Given the description of an element on the screen output the (x, y) to click on. 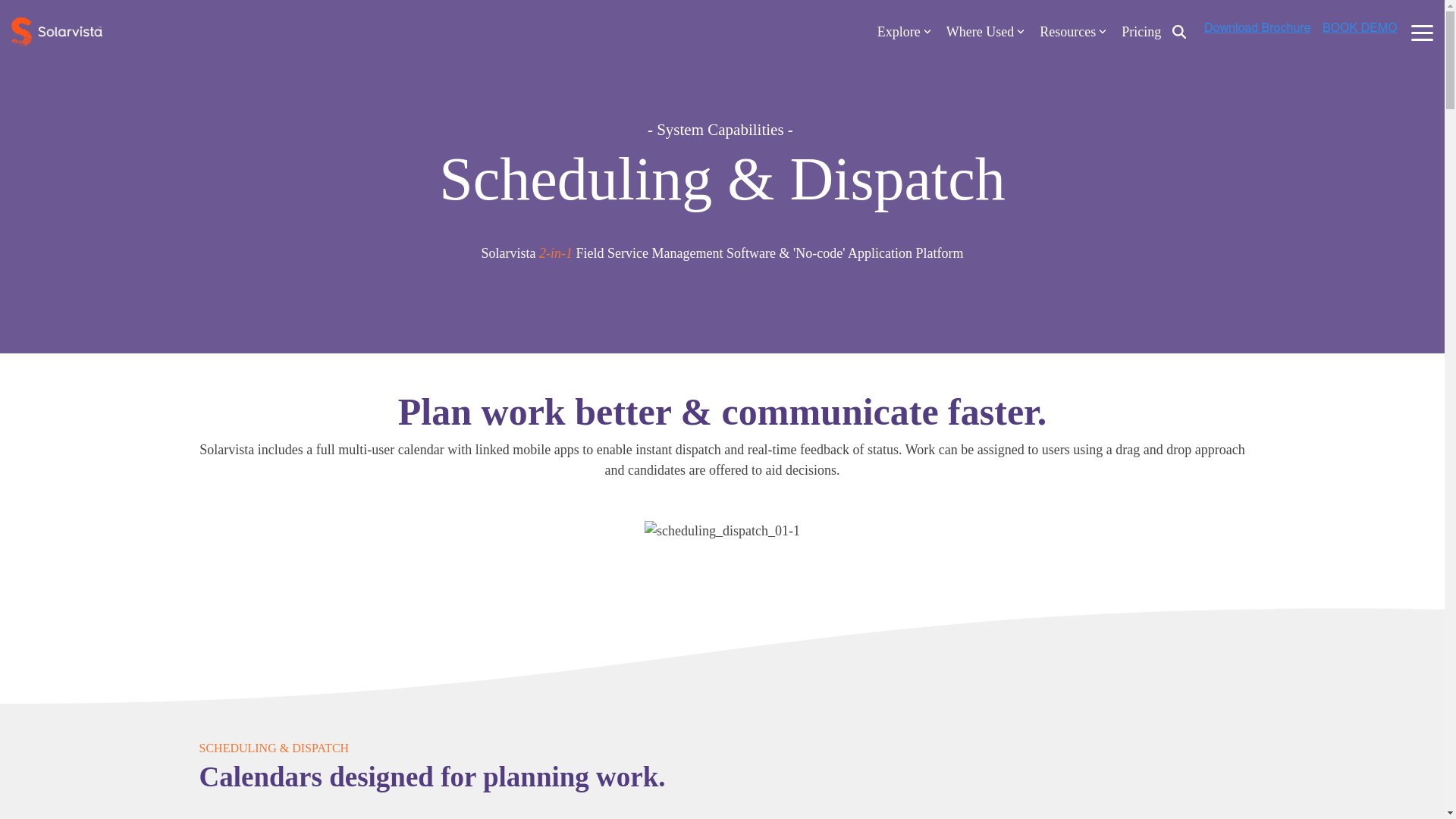
Toggle Menu (1421, 31)
Explore (904, 31)
Where Used (985, 31)
Resources (1072, 31)
Pricing (1140, 31)
